Given the description of an element on the screen output the (x, y) to click on. 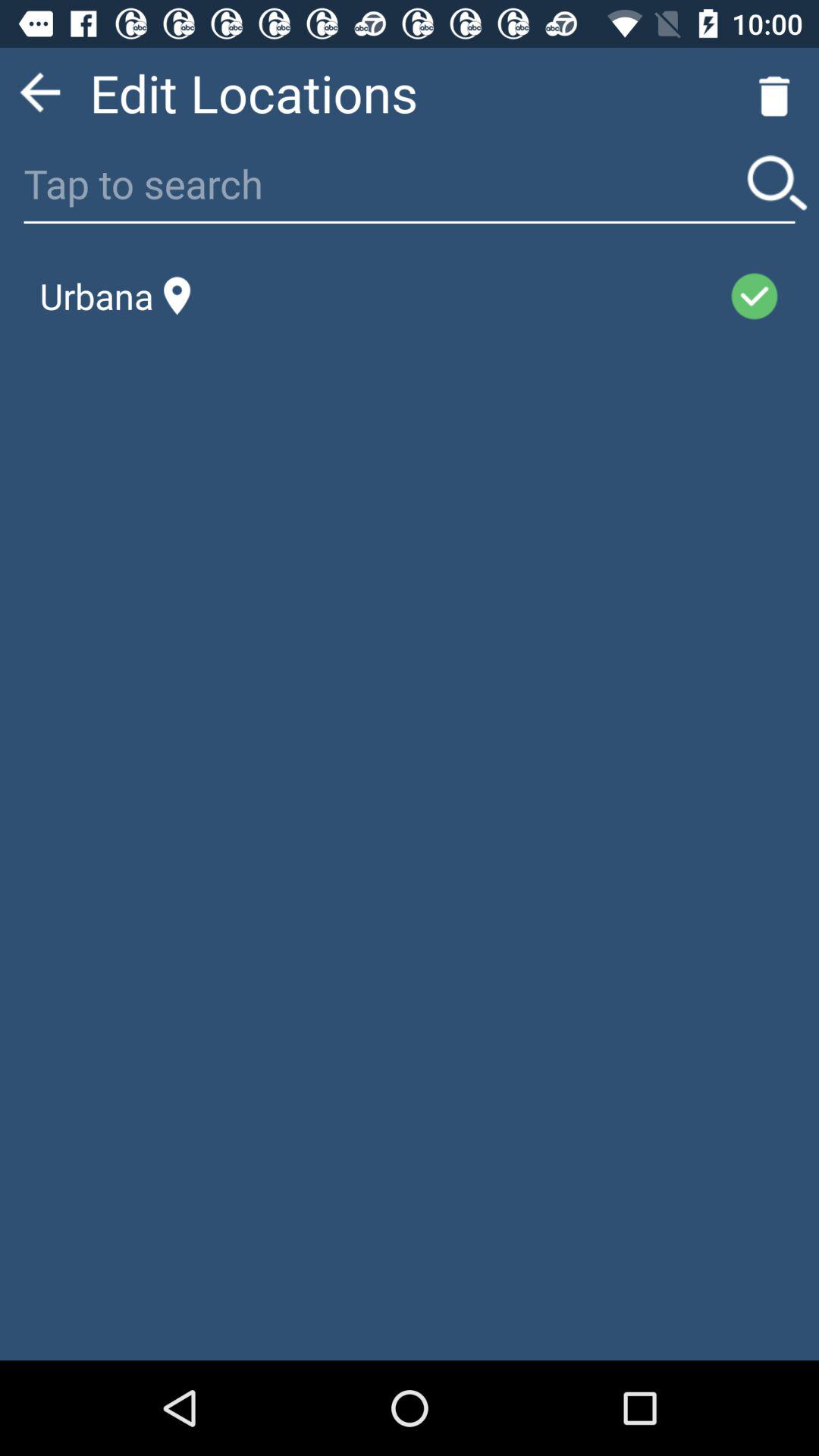
delete (773, 92)
